Given the description of an element on the screen output the (x, y) to click on. 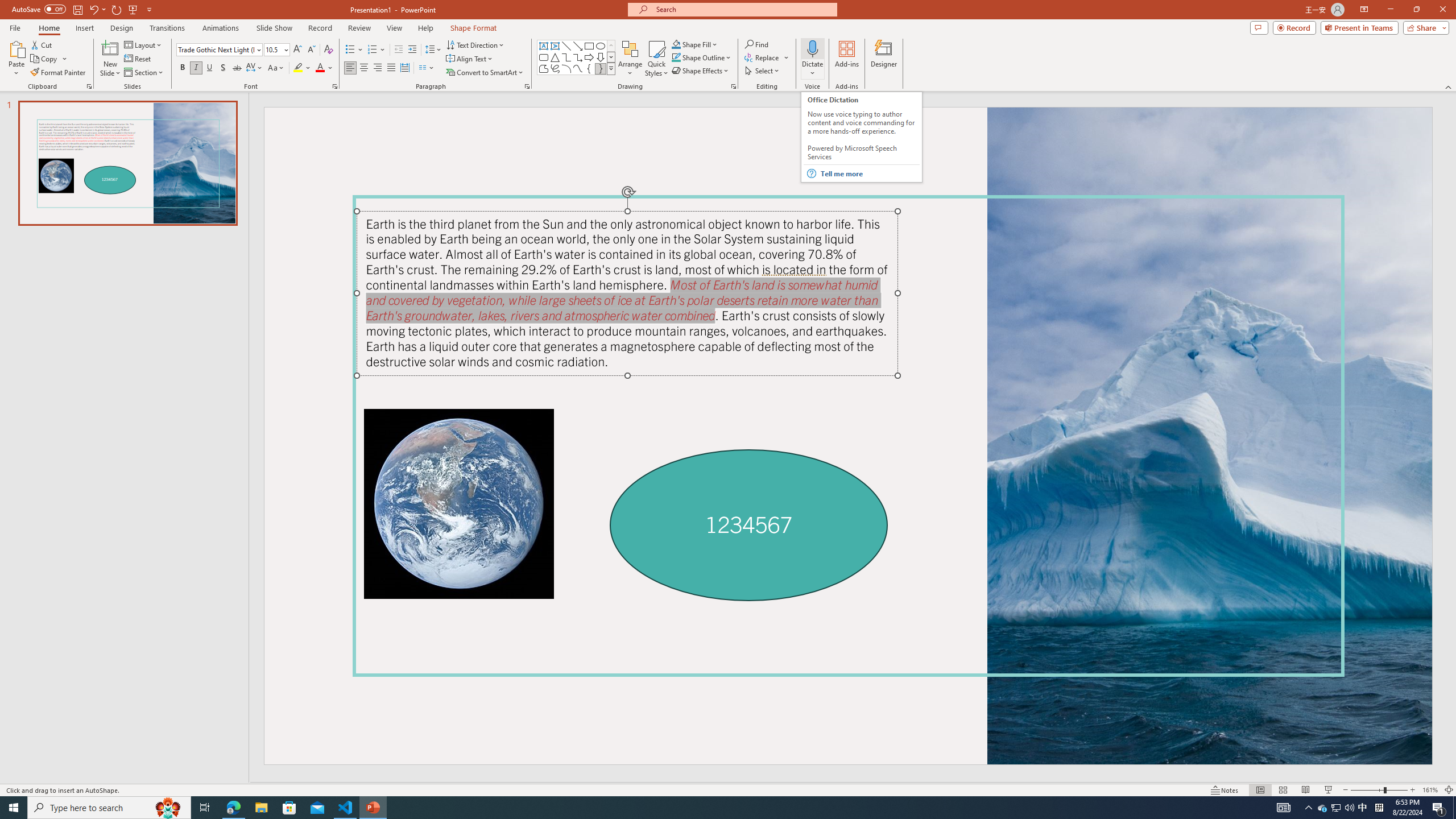
Tell me more (869, 173)
